Given the description of an element on the screen output the (x, y) to click on. 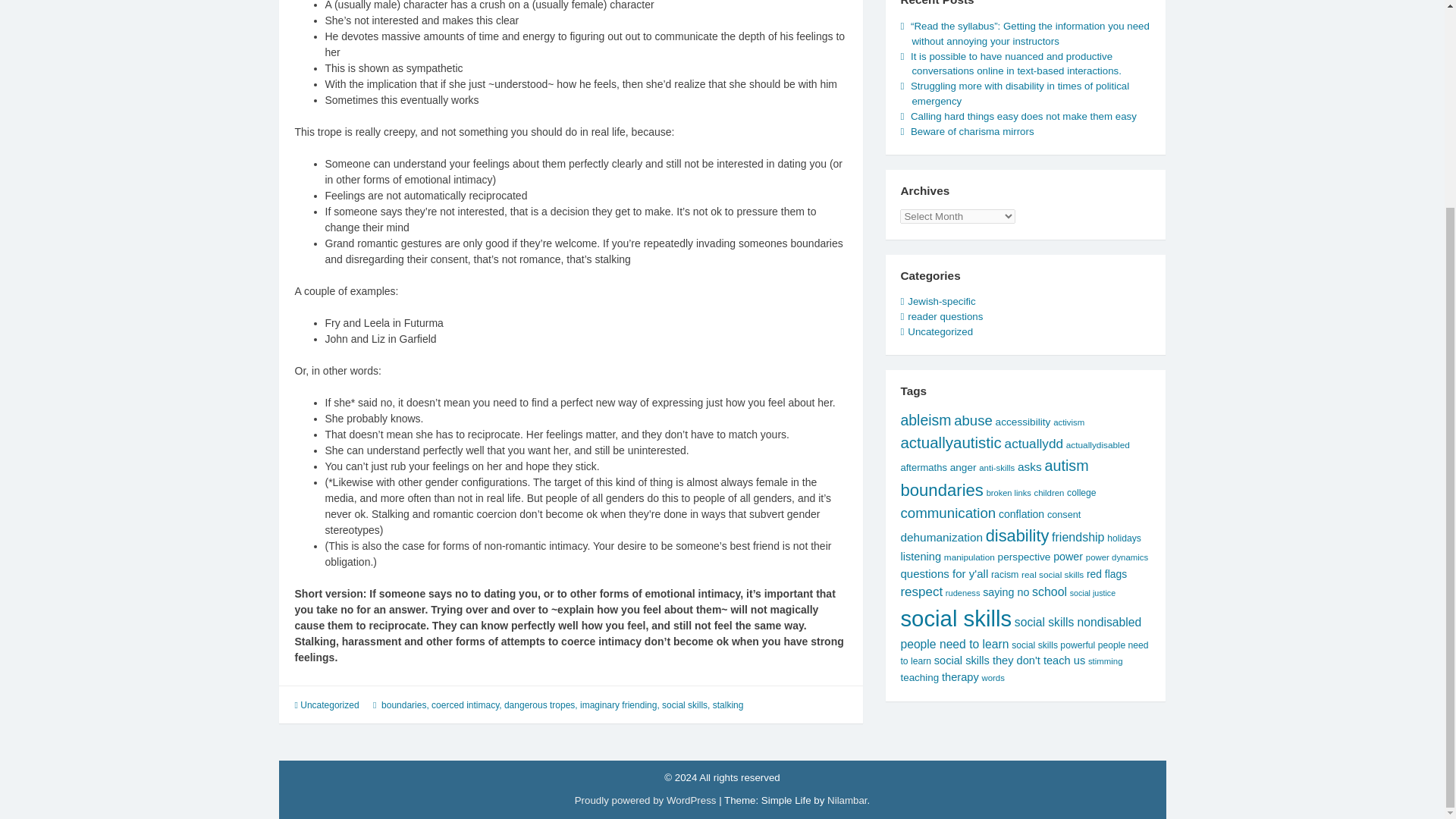
reader questions (944, 316)
actuallydisabled (1097, 444)
activism (1068, 421)
imaginary friending (617, 705)
social skills (684, 705)
ableism (924, 419)
boundaries (940, 489)
anti-skills (996, 467)
Uncategorized (939, 331)
aftermaths (923, 467)
